Given the description of an element on the screen output the (x, y) to click on. 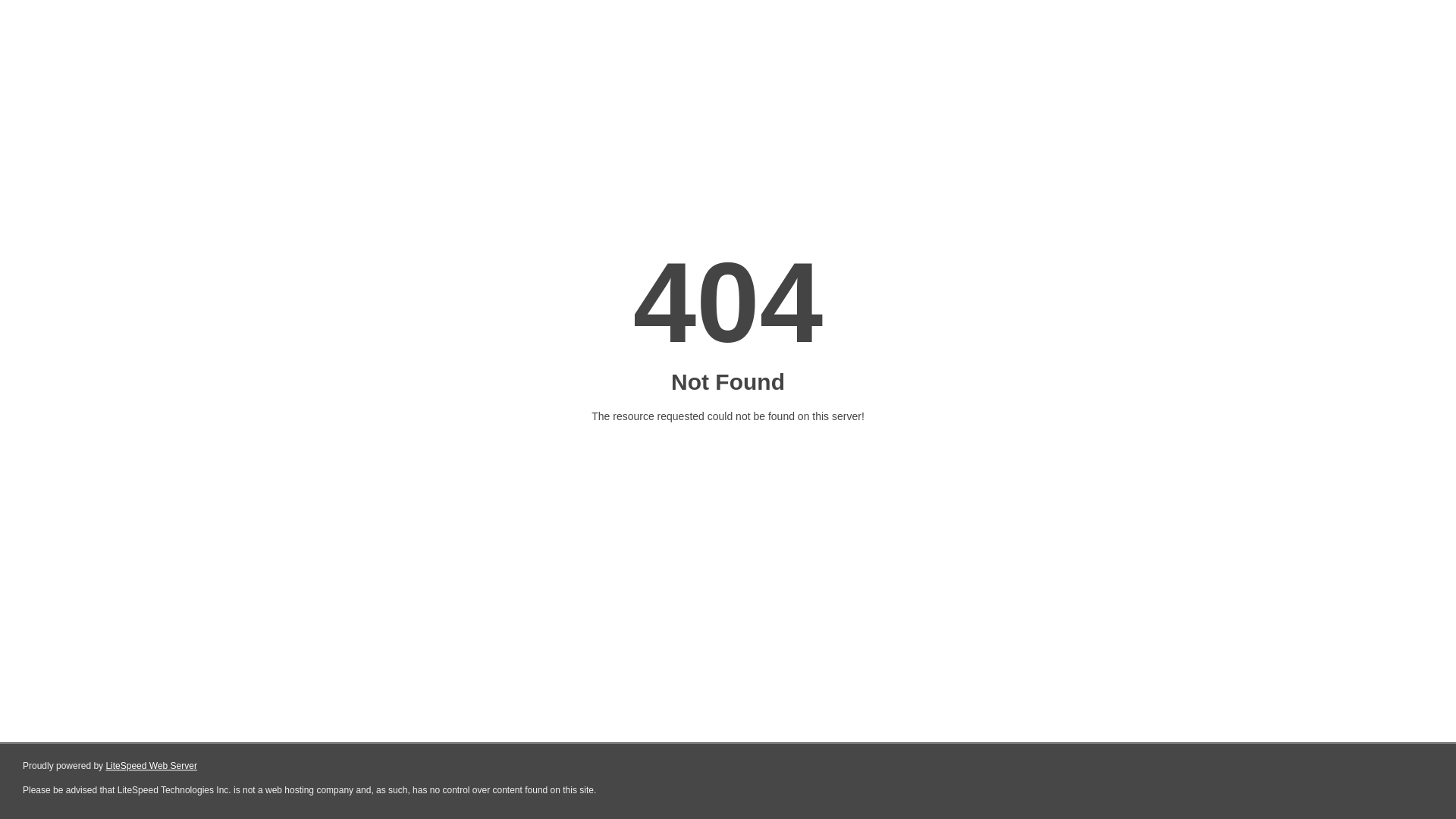
LiteSpeed Web Server (150, 765)
